Given the description of an element on the screen output the (x, y) to click on. 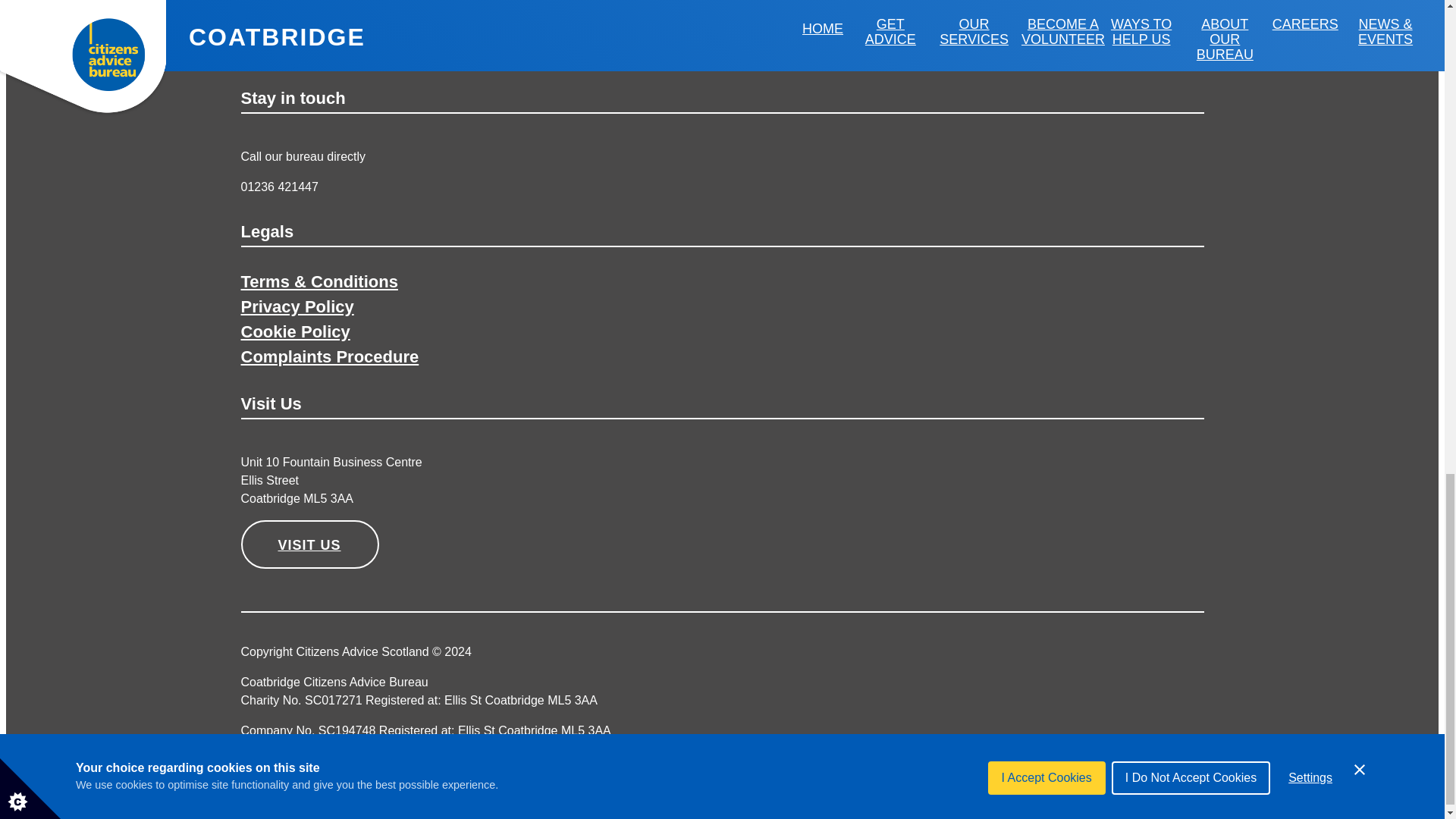
Privacy Policy (297, 305)
VISIT US (309, 544)
Cookie Policy (295, 331)
Complaints Procedure (330, 355)
facebook (1128, 775)
twitter (1174, 775)
